Given the description of an element on the screen output the (x, y) to click on. 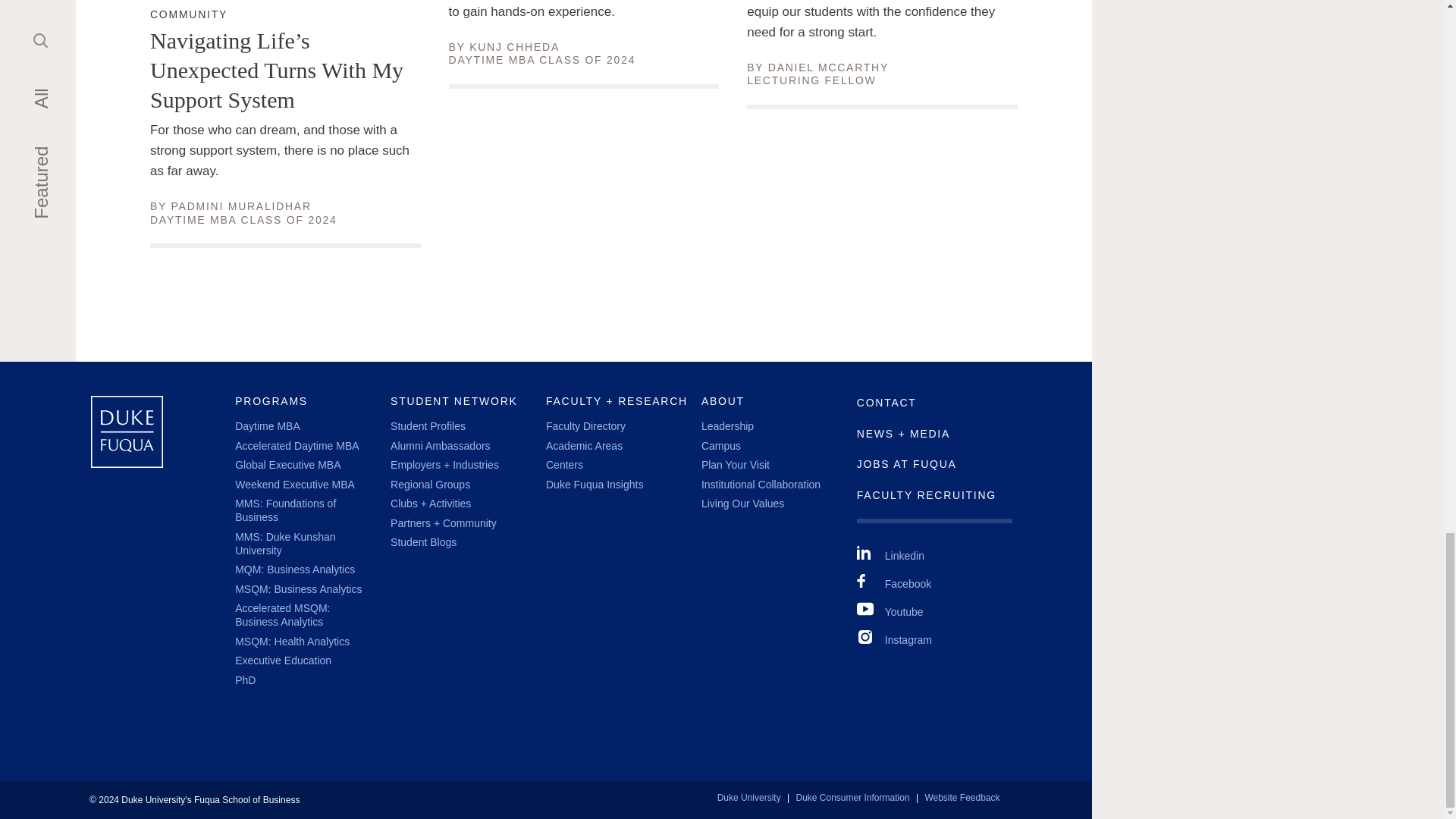
Weekend Executive MBA (294, 484)
MSQM: Business Analytics (828, 67)
Accelerated Daytime MBA (297, 589)
MSQM: Health Analytics (296, 445)
Daytime MBA (291, 641)
Student Profiles (266, 426)
MQM: Business Analytics (427, 426)
MMS: Foundations of Business (294, 569)
MMS: Duke Kunshan University (285, 510)
Executive Education (284, 543)
Global Executive MBA (188, 15)
Accelerated MSQM: Business Analytics (282, 660)
